Given the description of an element on the screen output the (x, y) to click on. 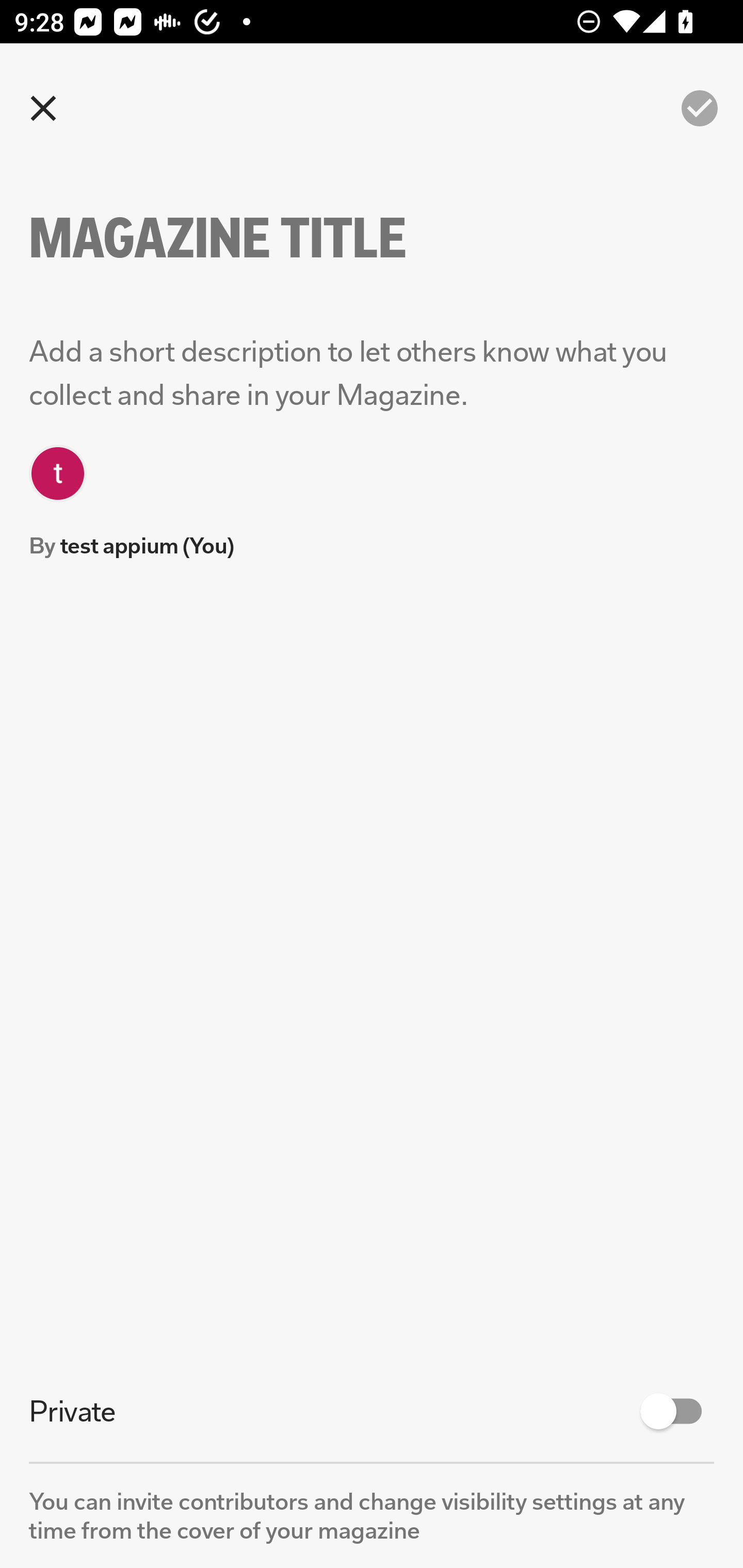
MAGAZINE TITLE (252, 238)
Private (371, 1411)
